Given the description of an element on the screen output the (x, y) to click on. 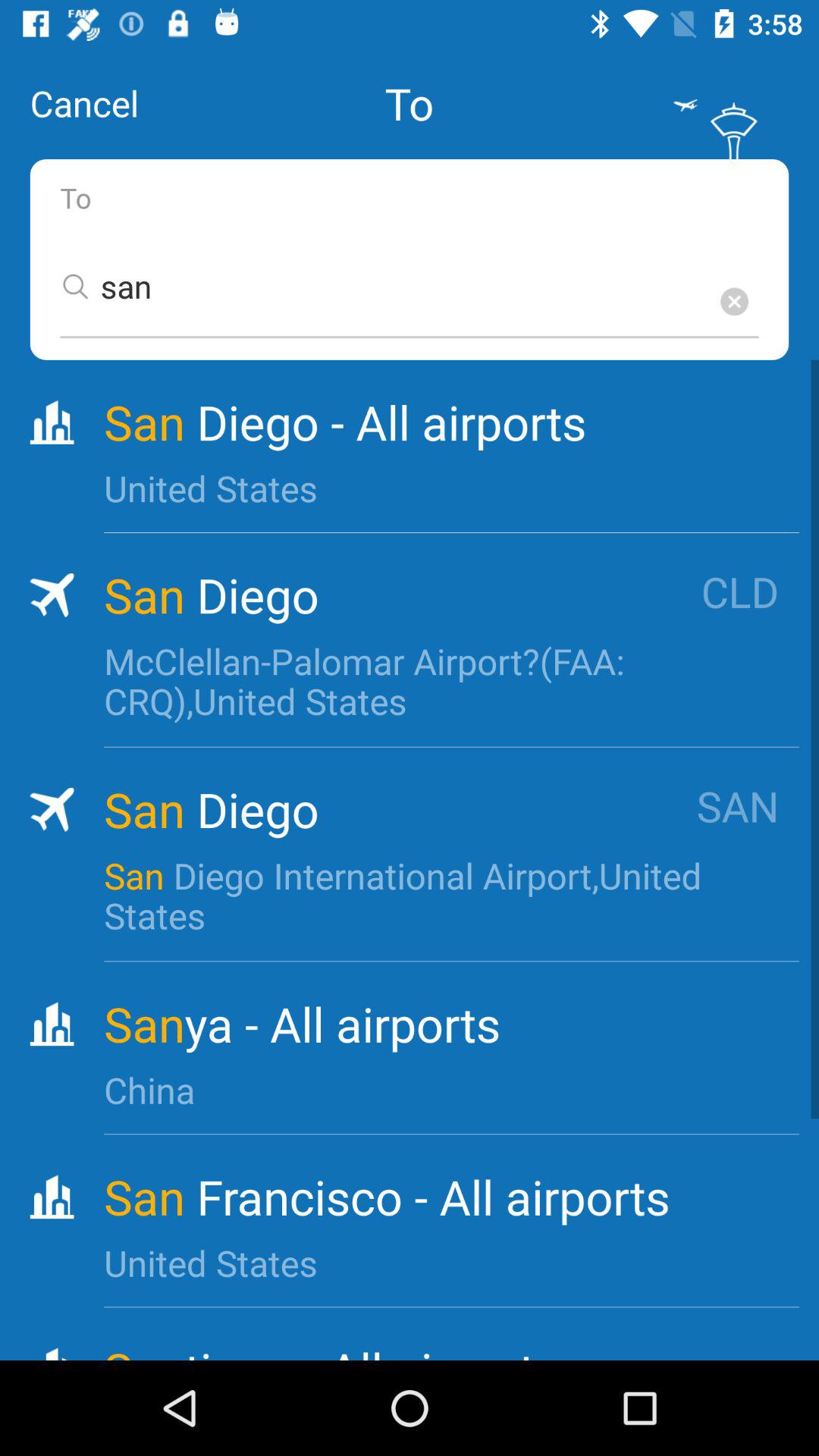
select the delete option (734, 301)
